Given the description of an element on the screen output the (x, y) to click on. 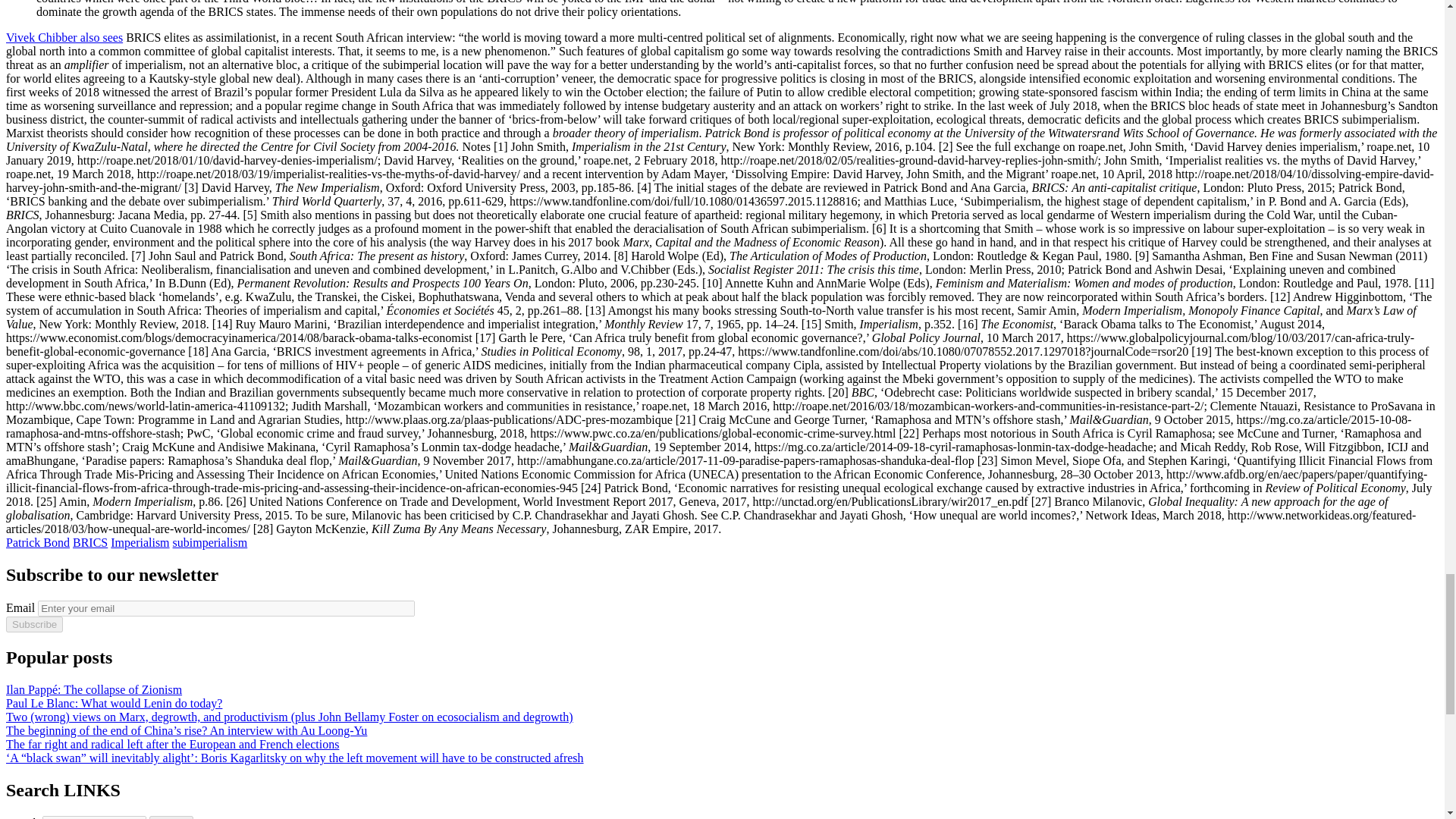
Search (171, 817)
Subscribe (33, 624)
subimperialism (210, 542)
Enter the terms you wish to search for. (94, 817)
Imperialism (139, 542)
BRICS (89, 542)
Search (171, 817)
Subscribe (33, 624)
Search (171, 817)
Paul Le Blanc: What would Lenin do today? (113, 703)
Patrick Bond (37, 542)
Vivek Chibber also sees (63, 37)
